Given the description of an element on the screen output the (x, y) to click on. 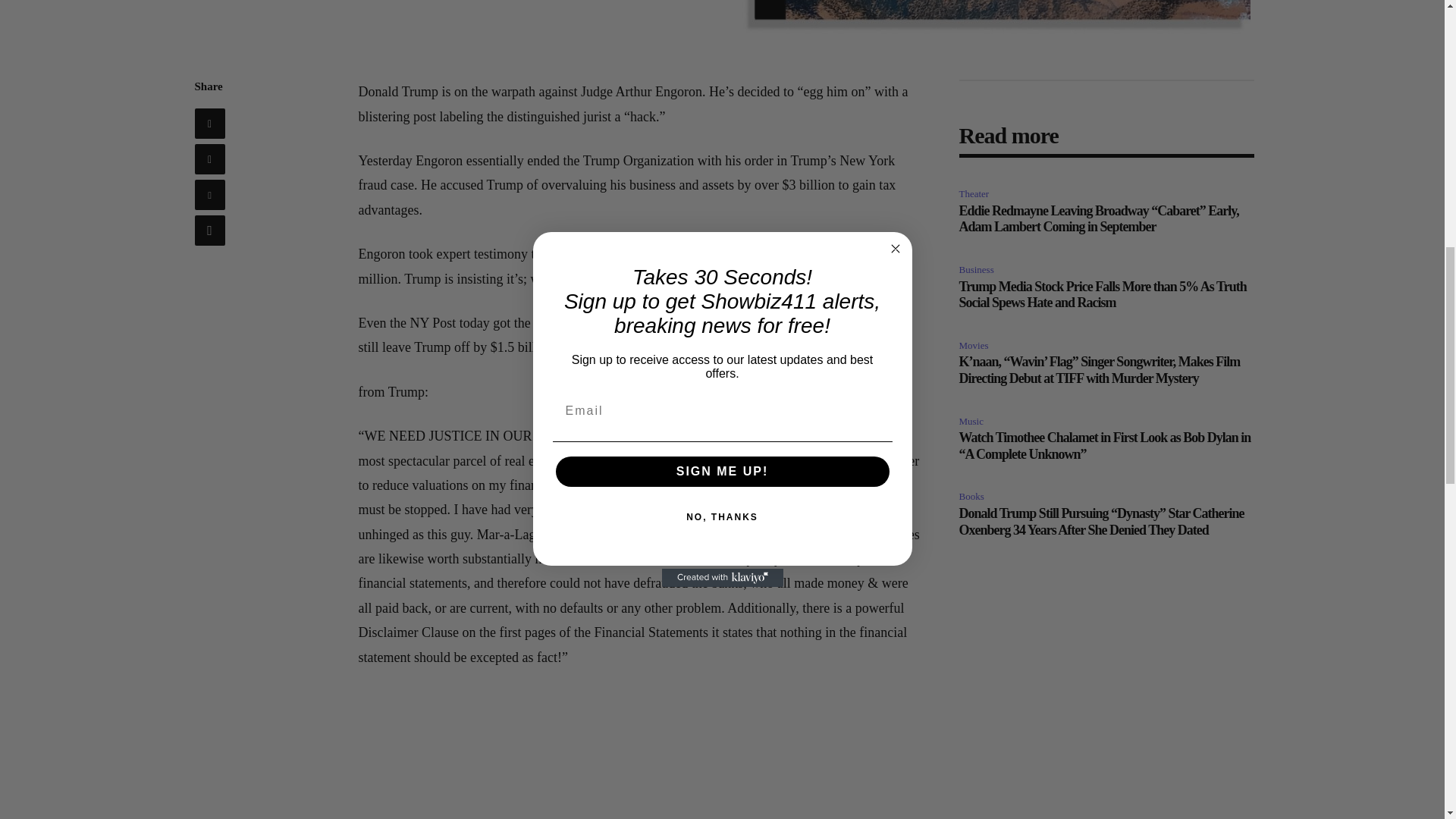
WhatsApp (208, 230)
Facebook (208, 123)
Twitter (208, 159)
Pinterest (208, 194)
